Given the description of an element on the screen output the (x, y) to click on. 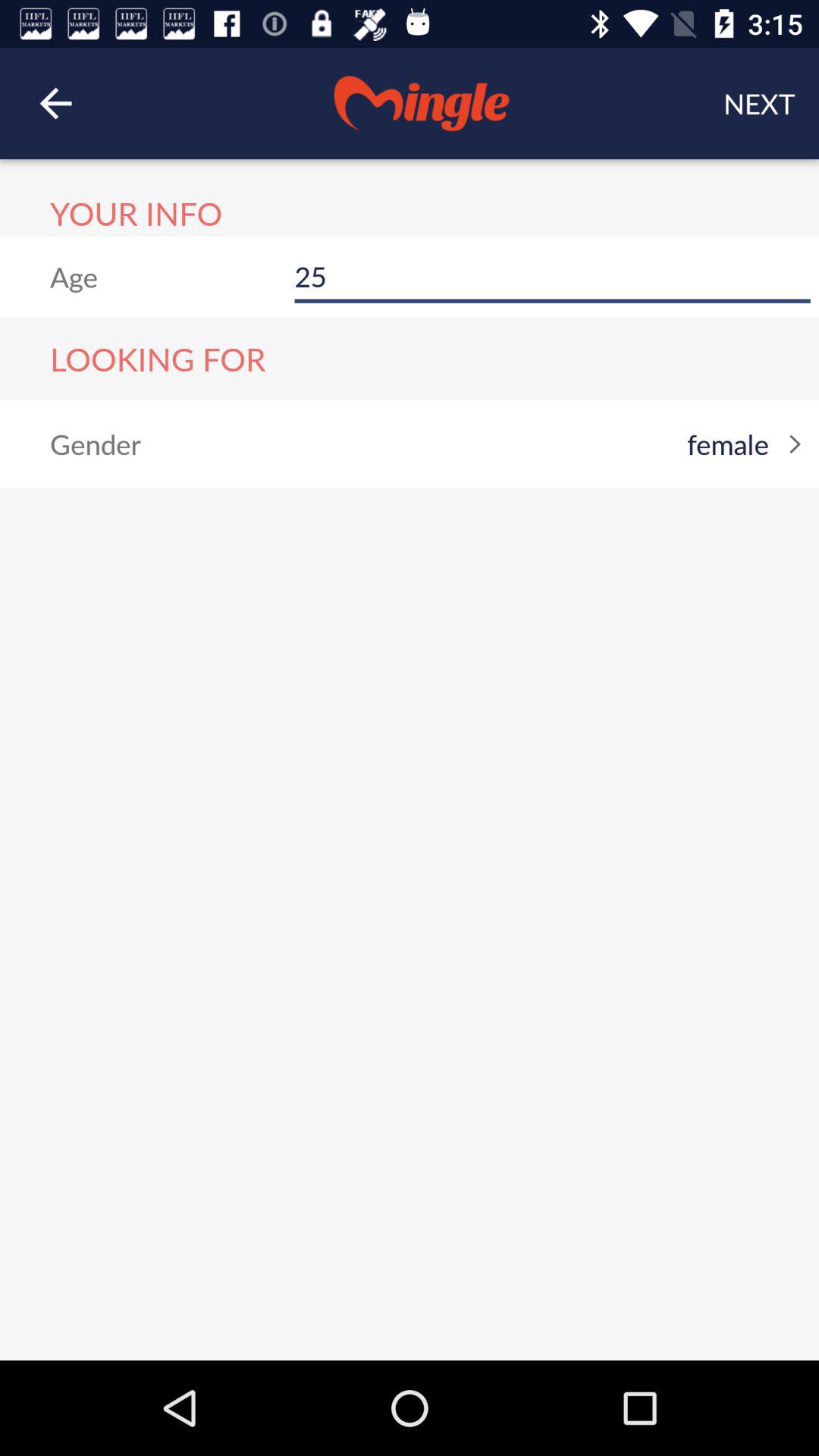
open item above the 25 icon (759, 103)
